Given the description of an element on the screen output the (x, y) to click on. 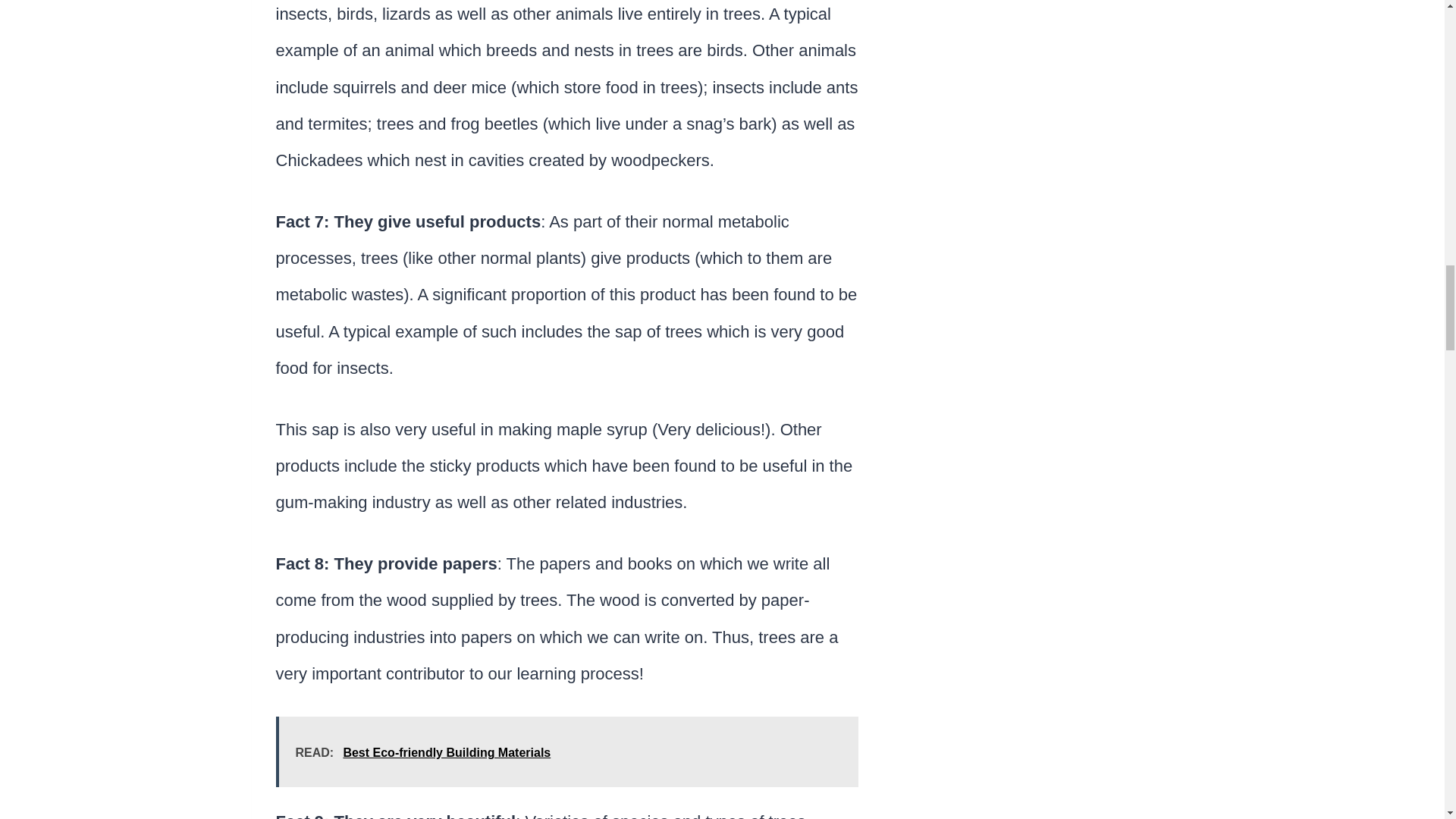
READ:  Best Eco-friendly Building Materials (567, 751)
